Given the description of an element on the screen output the (x, y) to click on. 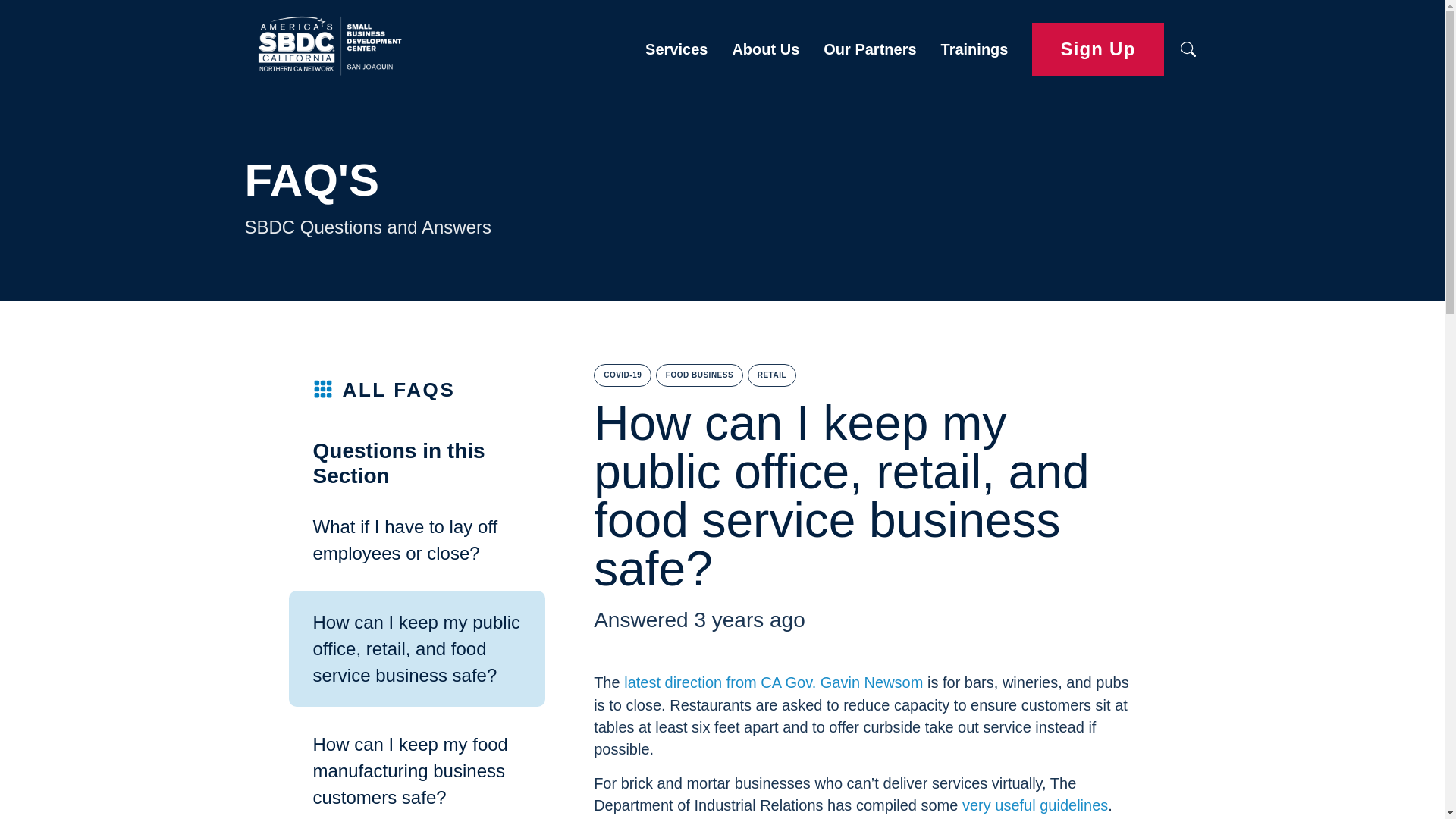
Our Partners (869, 49)
Sign Up (1097, 49)
Trainings (974, 49)
About Us (764, 49)
